Given the description of an element on the screen output the (x, y) to click on. 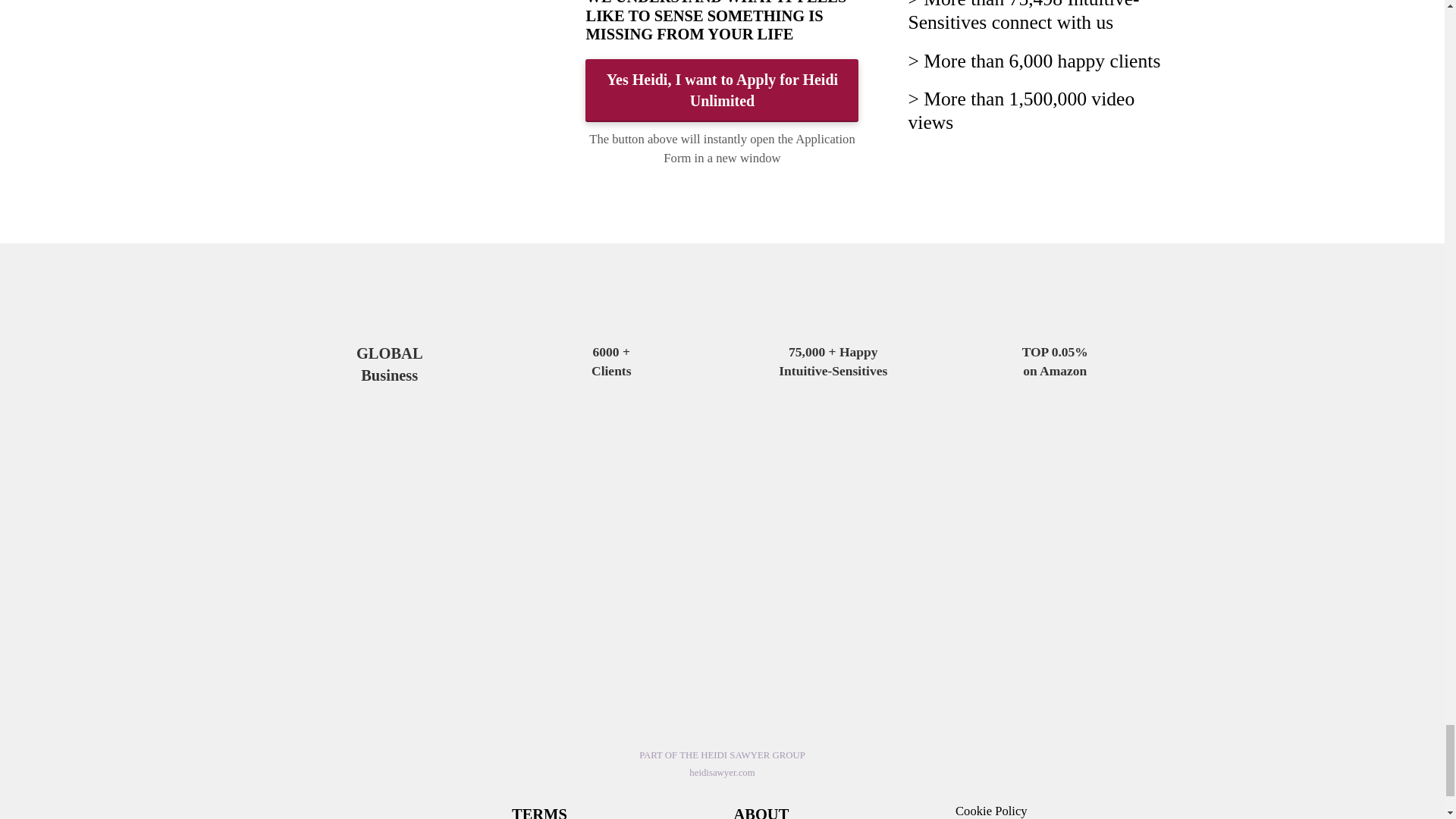
ABOUT (761, 812)
TERMS (539, 812)
heidisawyer.com (721, 772)
Yes Heidi, I want to Apply for Heidi Unlimited (722, 90)
